Given the description of an element on the screen output the (x, y) to click on. 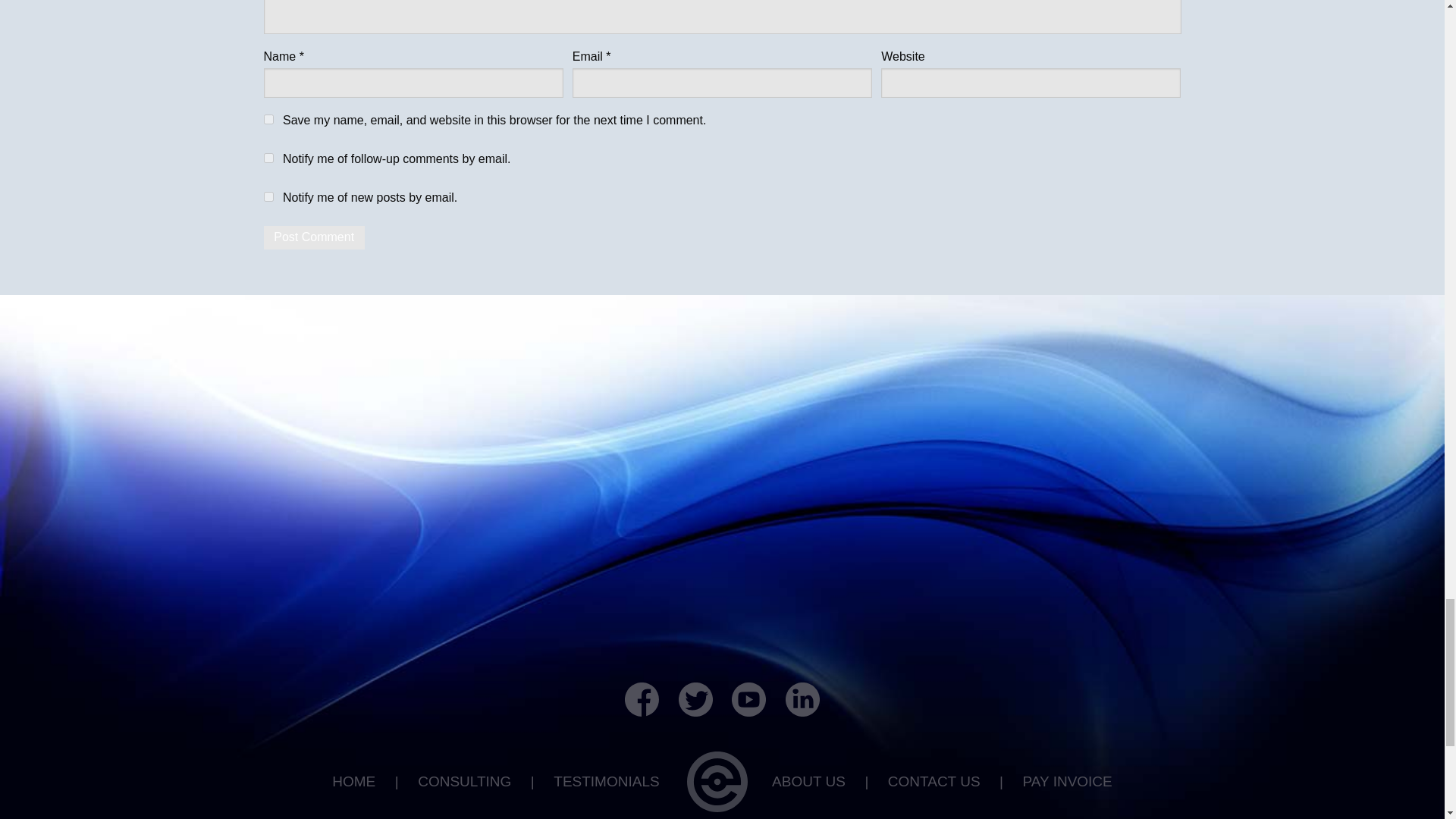
subscribe (268, 196)
subscribe (268, 157)
yes (268, 119)
Post Comment (314, 237)
